Given the description of an element on the screen output the (x, y) to click on. 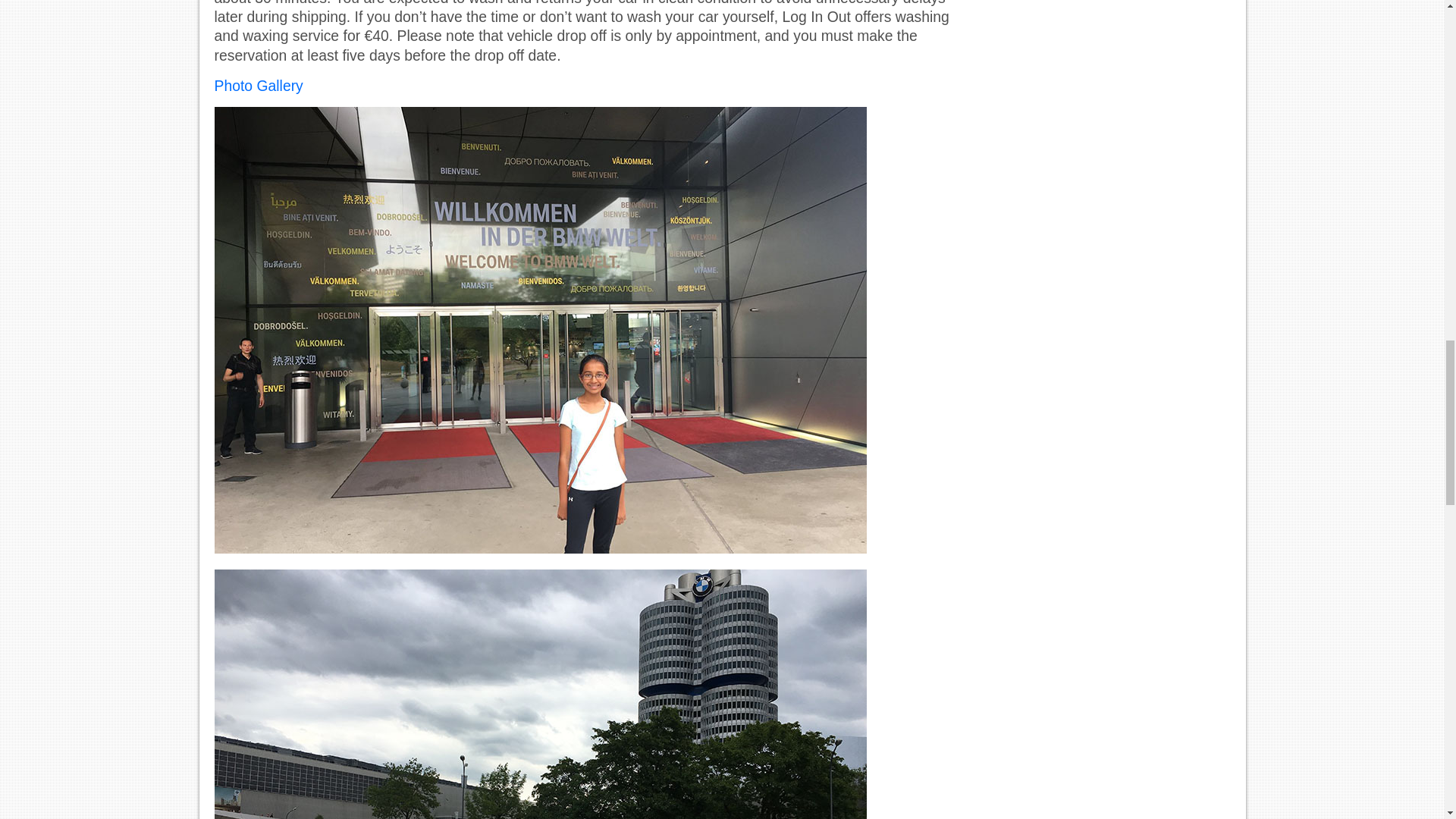
Photo Gallery (258, 85)
